Given the description of an element on the screen output the (x, y) to click on. 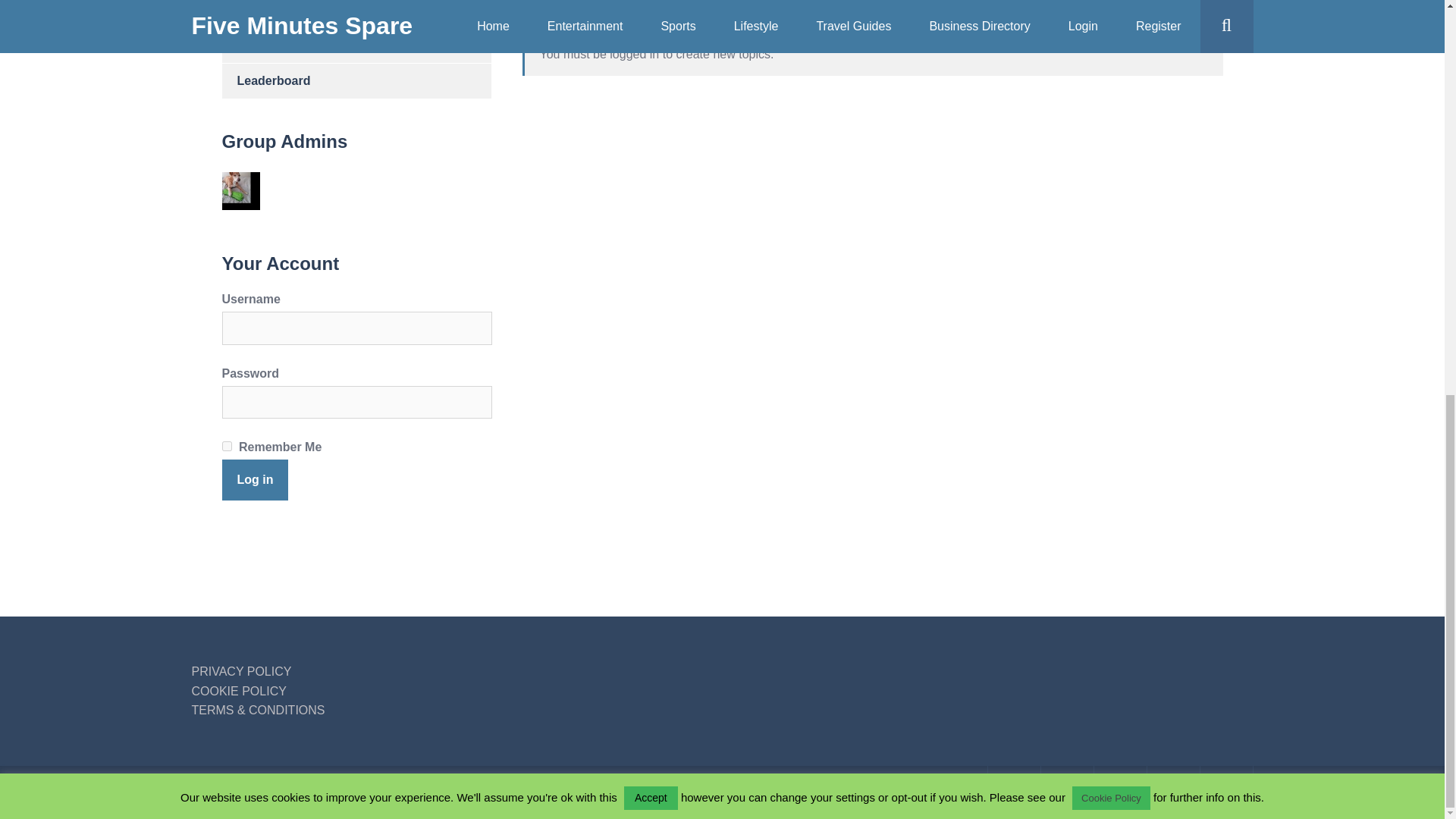
Log in (254, 479)
forever (226, 446)
